Given the description of an element on the screen output the (x, y) to click on. 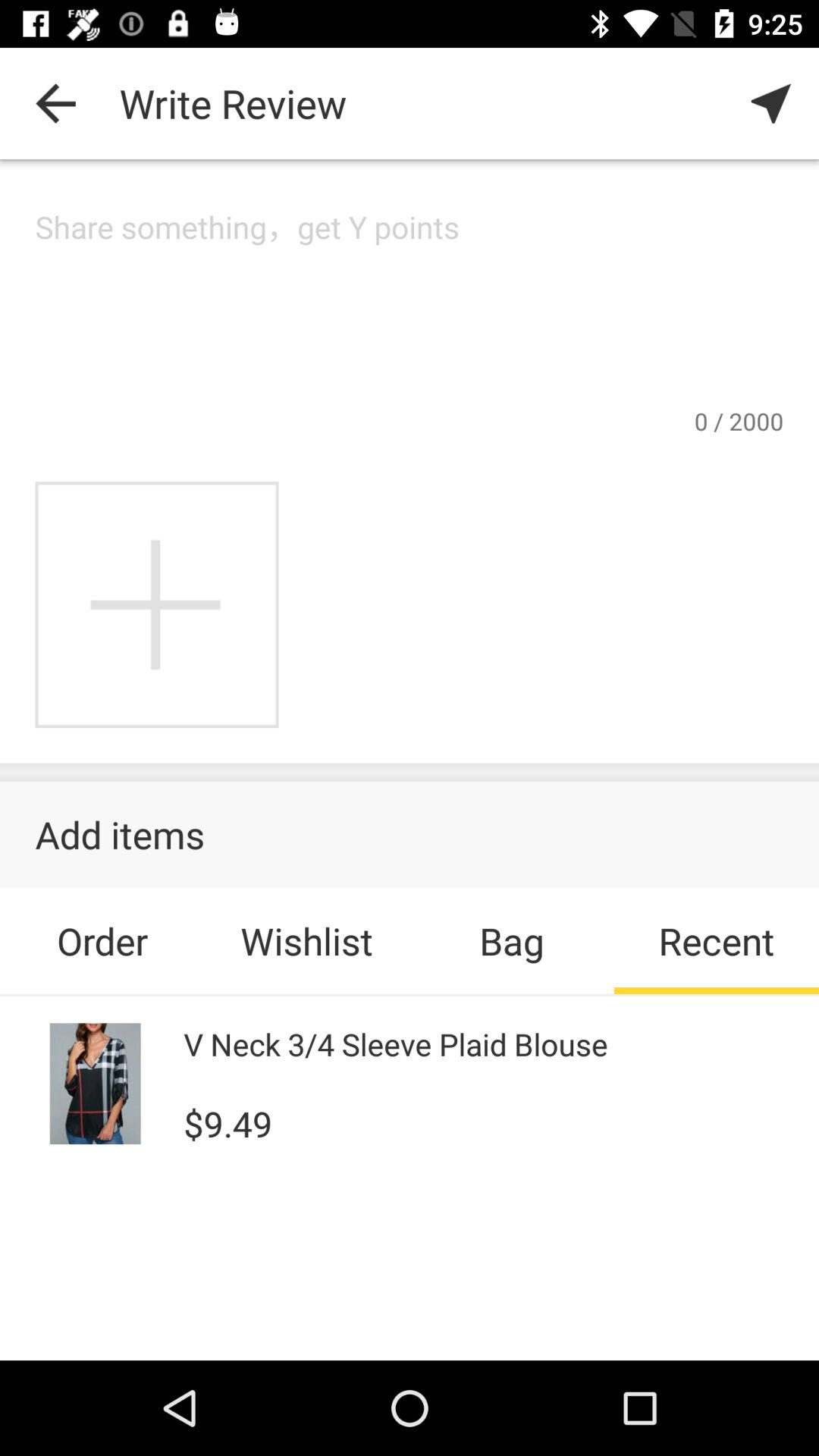
select the item below v neck 3 icon (227, 1121)
